Given the description of an element on the screen output the (x, y) to click on. 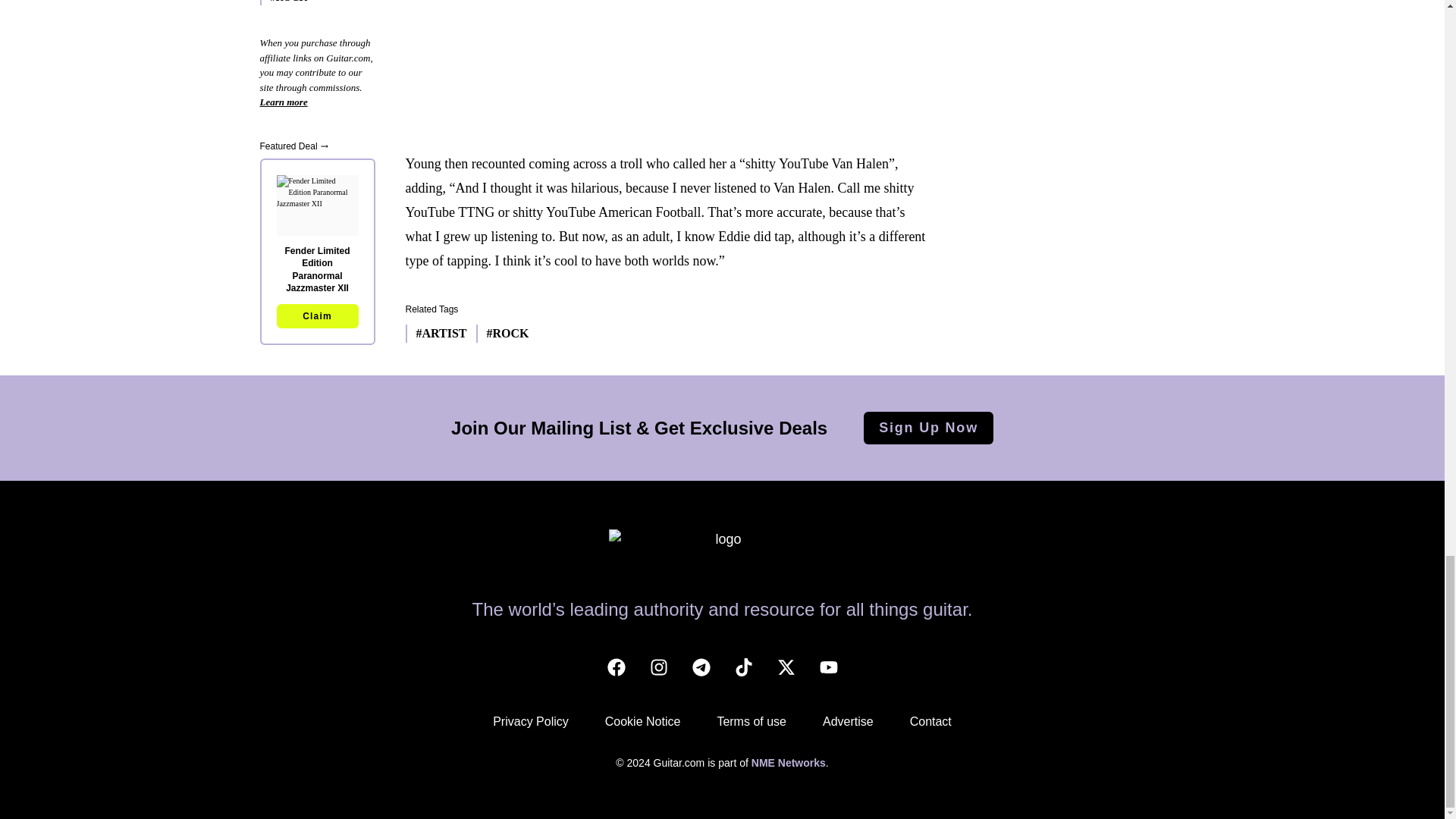
Artist (434, 333)
Rock (502, 333)
